Given the description of an element on the screen output the (x, y) to click on. 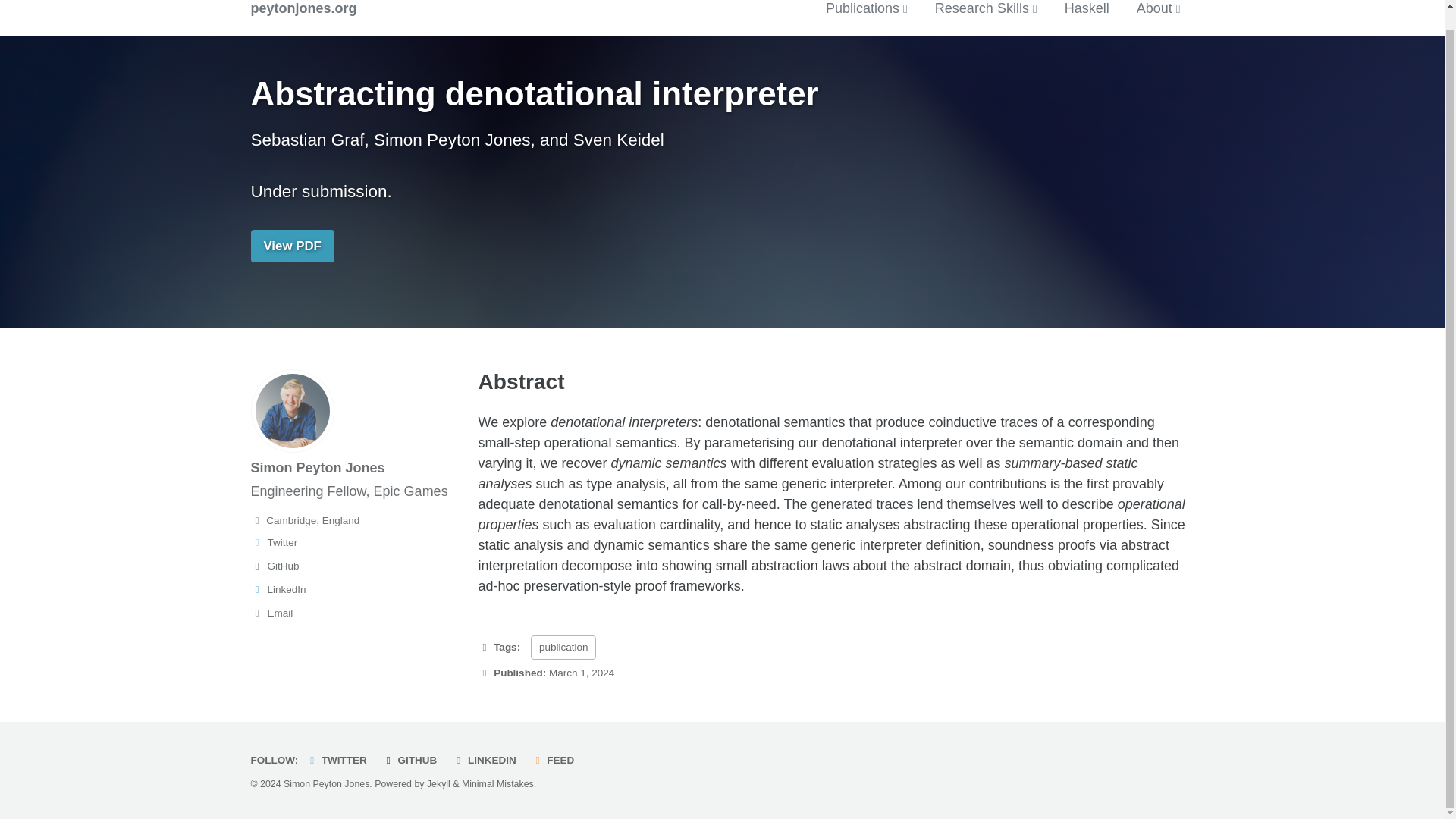
Haskell (1086, 9)
GITHUB (412, 759)
LinkedIn (357, 589)
Twitter (357, 542)
View PDF (291, 245)
Simon Peyton Jones (317, 467)
FEED (556, 759)
Email (357, 613)
Jekyll (437, 783)
Publications (866, 9)
publication (563, 647)
Research Skills (985, 9)
About (1158, 9)
LINKEDIN (486, 759)
Minimal Mistakes (497, 783)
